Given the description of an element on the screen output the (x, y) to click on. 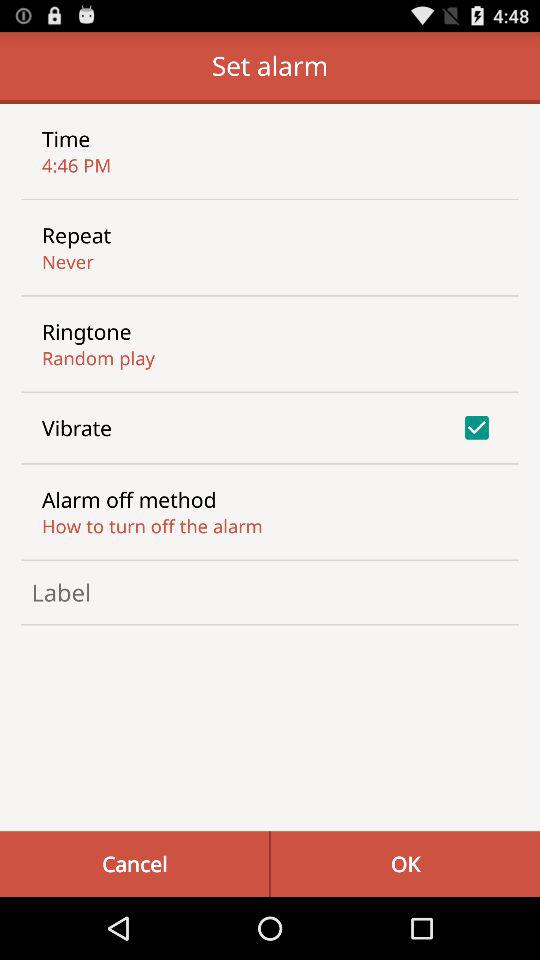
press 4:46 pm item (76, 164)
